Given the description of an element on the screen output the (x, y) to click on. 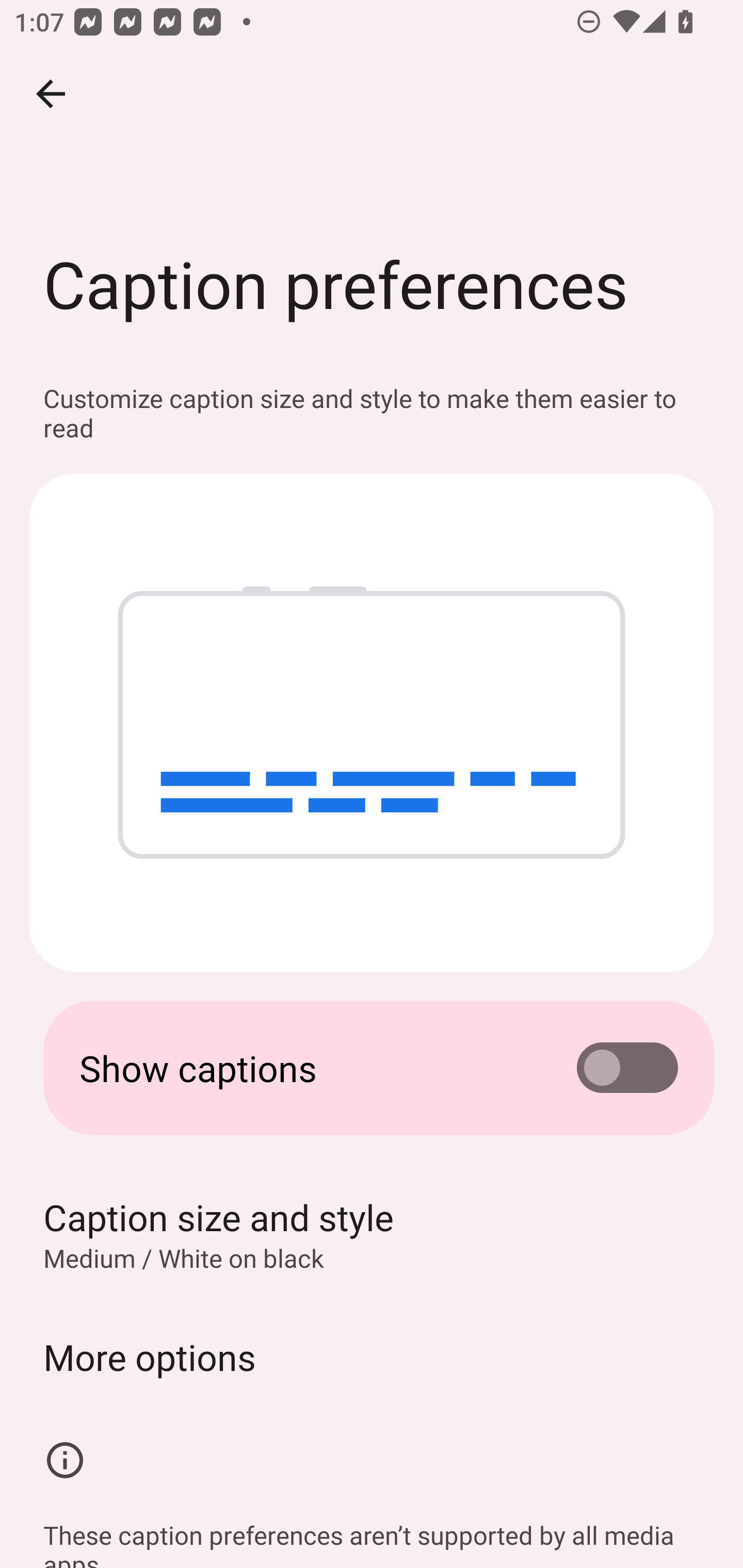
Navigate up (50, 93)
Show captions (371, 1067)
Caption size and style Medium / White on black (371, 1233)
More options (371, 1356)
